Given the description of an element on the screen output the (x, y) to click on. 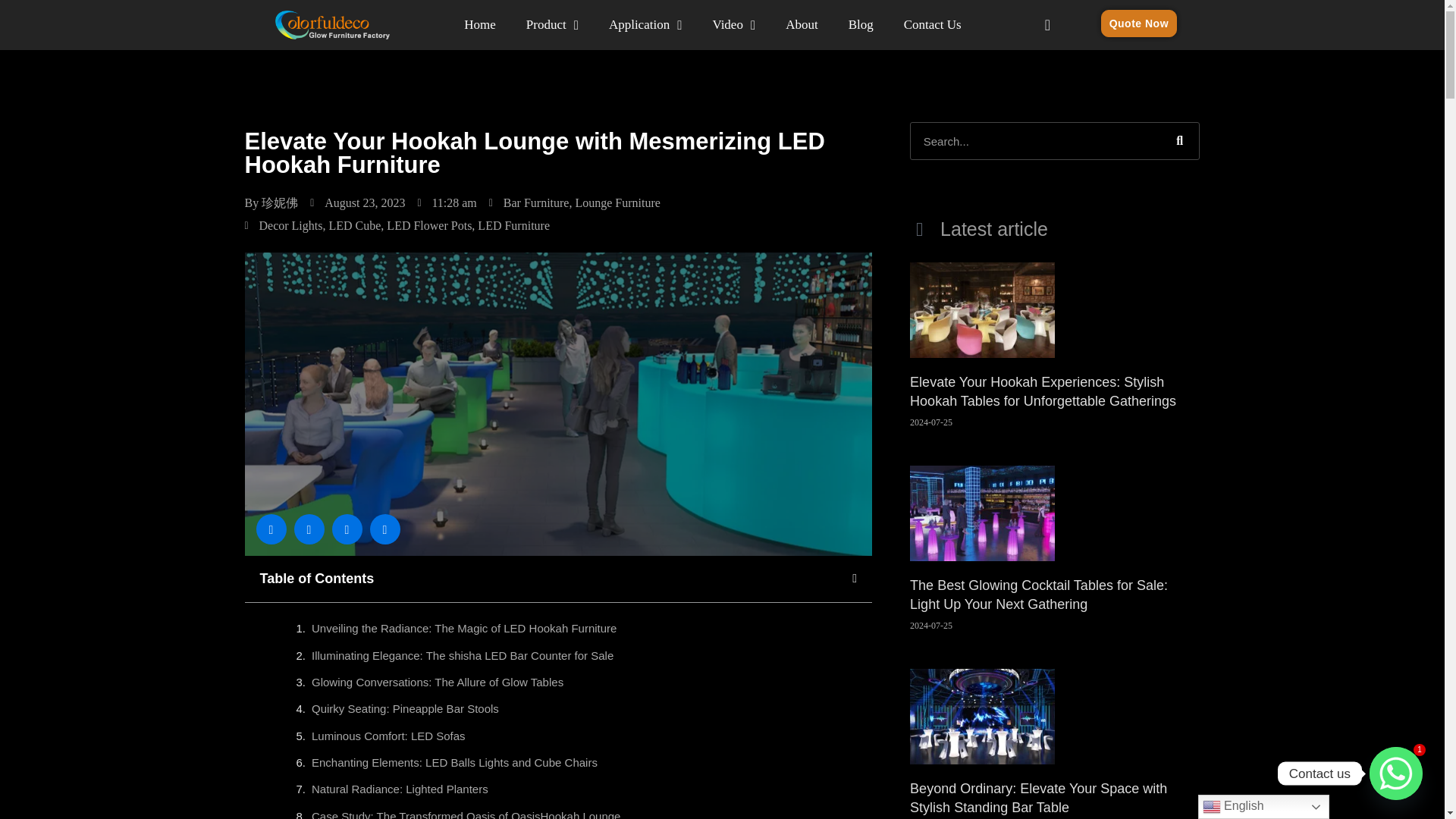
Product (552, 24)
Application (645, 24)
Home (479, 24)
